Given the description of an element on the screen output the (x, y) to click on. 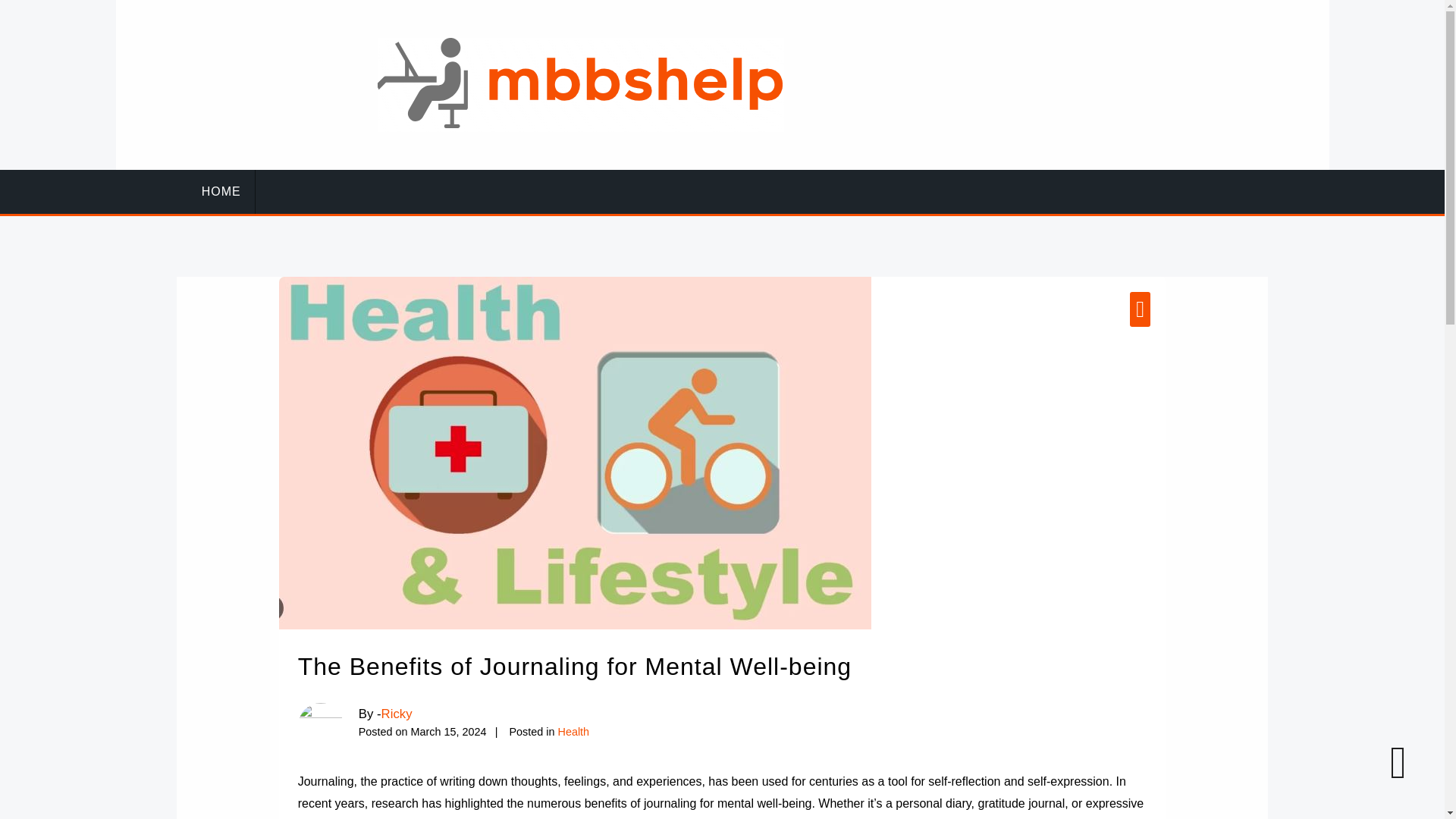
HOME (221, 191)
Ricky (396, 713)
Health (573, 731)
